Given the description of an element on the screen output the (x, y) to click on. 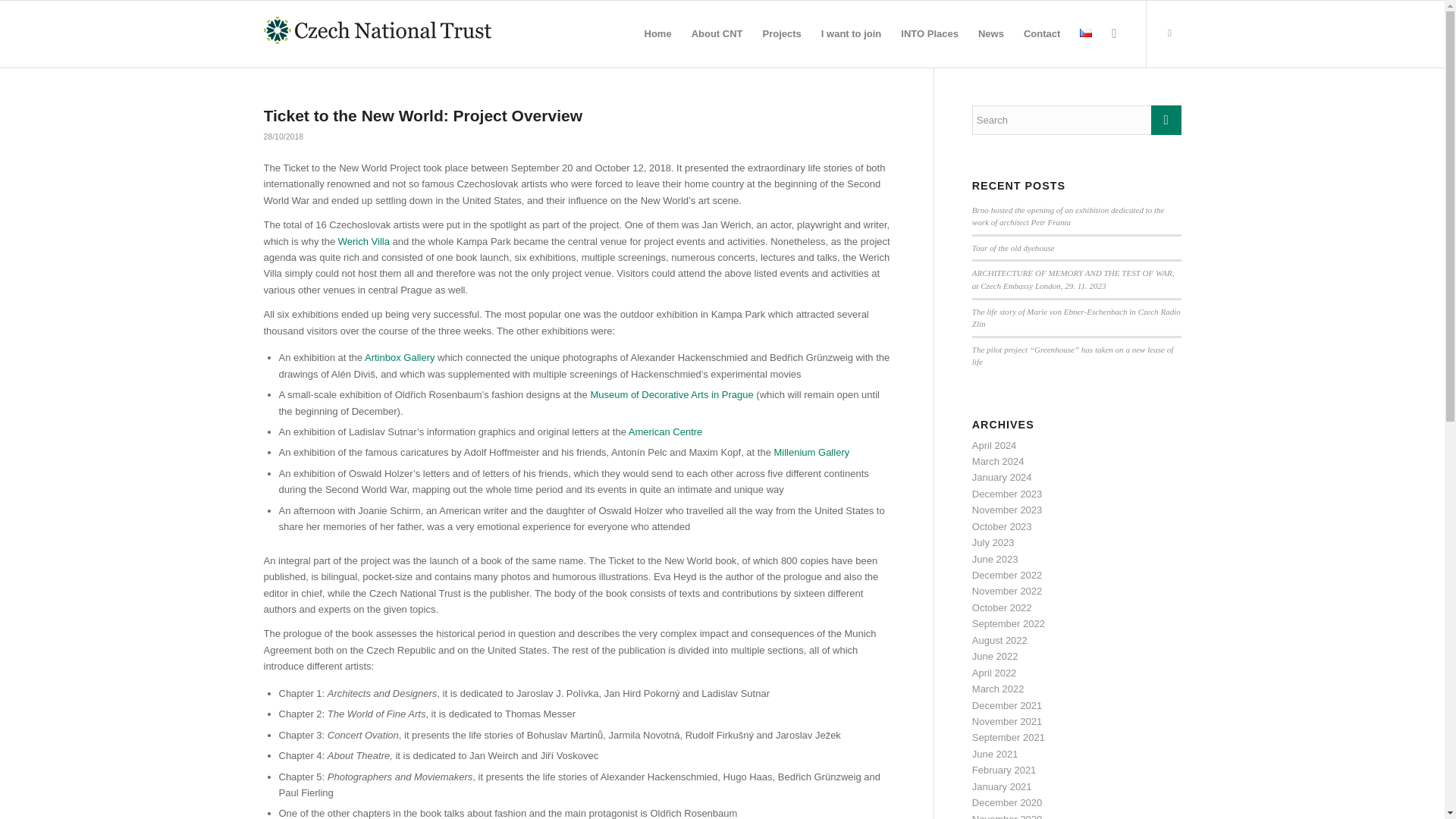
American Centre (665, 431)
December 2022 (1007, 574)
November 2023 (1007, 509)
I want to join (850, 33)
March 2024 (998, 460)
Tour of the old dyehouse (1013, 247)
Permanent Link: Ticket to the New World: Project Overview (423, 115)
logo-CNT-10 (377, 29)
Museum of Decorative Arts in Prague (670, 394)
